Given the description of an element on the screen output the (x, y) to click on. 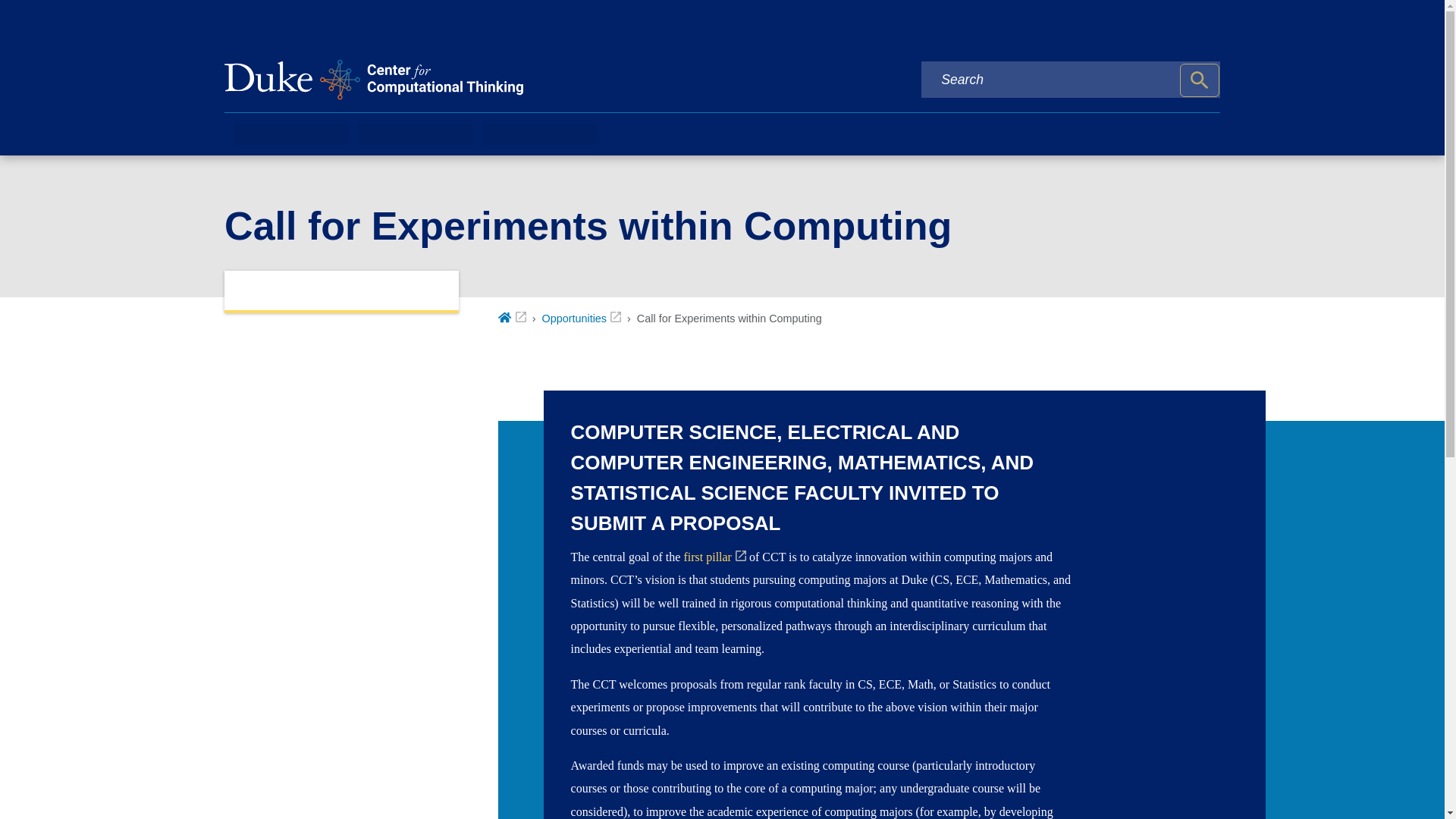
first pillar (713, 556)
Opportunities (581, 318)
Home (511, 318)
Pillar 1 (713, 556)
